Given the description of an element on the screen output the (x, y) to click on. 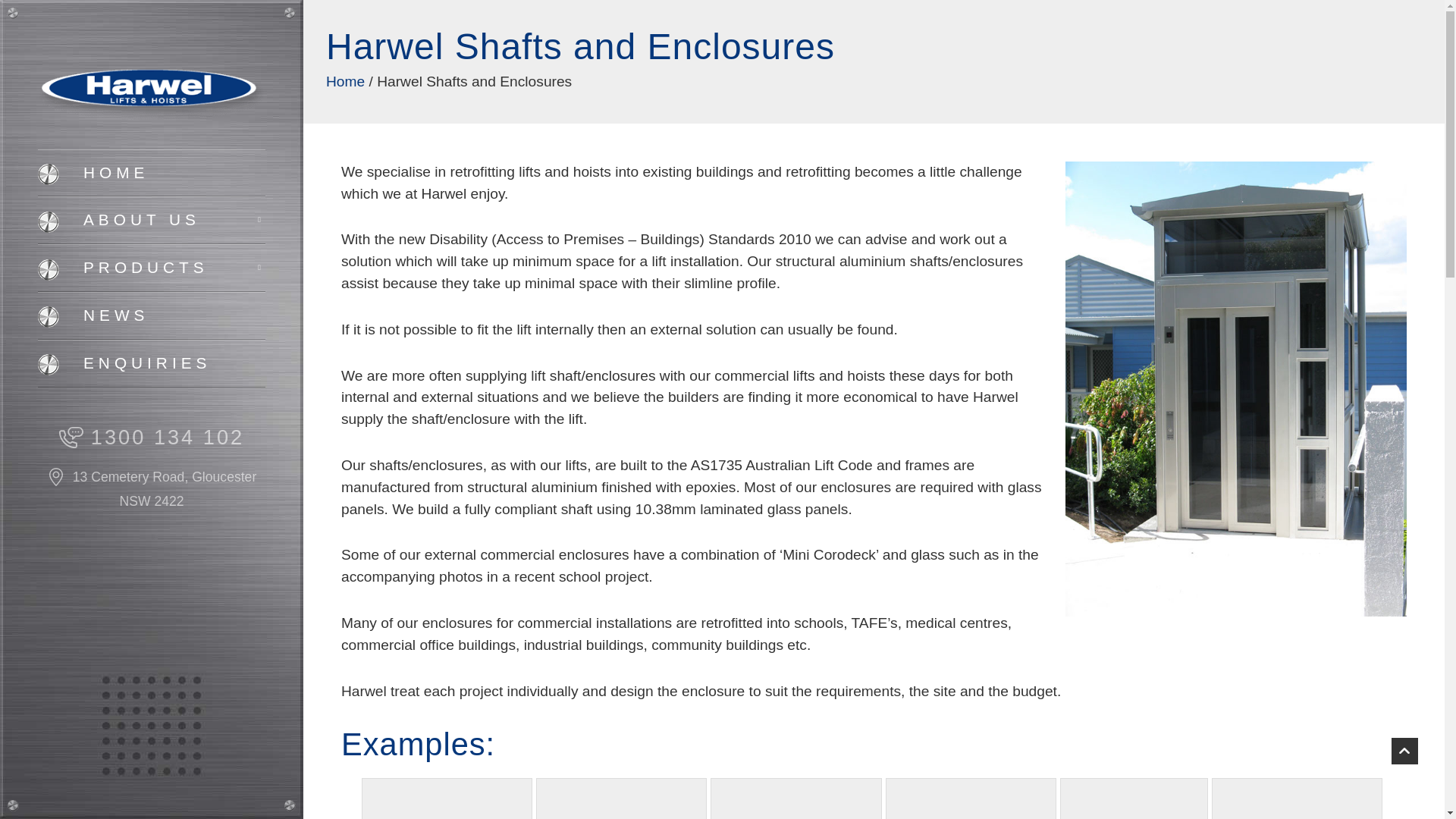
Home (345, 81)
1300 134 102 (150, 437)
PRODUCTS (150, 267)
ENQUIRIES (150, 363)
NEWS (150, 315)
ABOUT US (150, 220)
13 Cemetery Road, Gloucester NSW 2422 (150, 489)
HOME (150, 173)
